Given the description of an element on the screen output the (x, y) to click on. 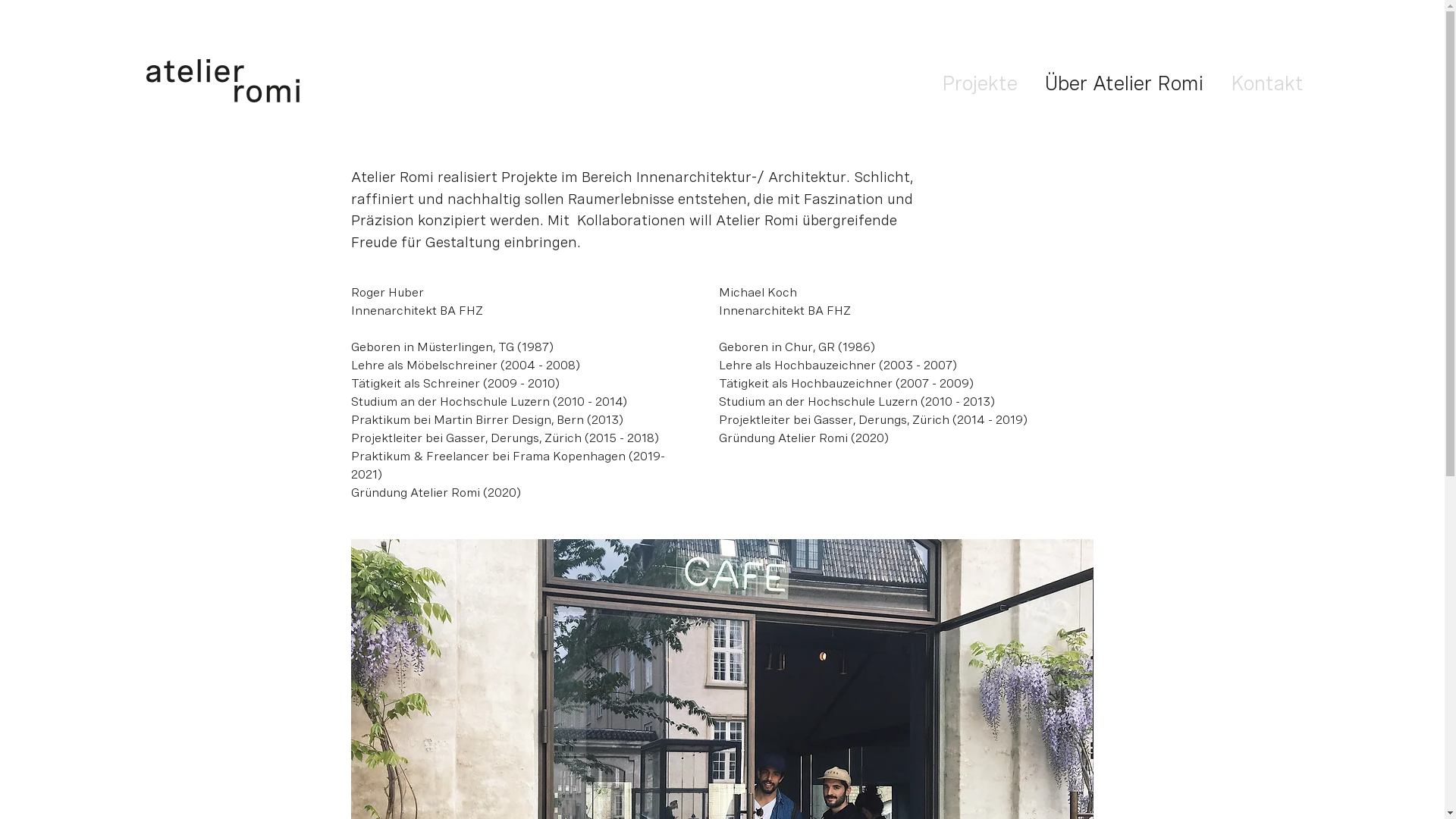
Kontakt Element type: text (1265, 83)
Projekte Element type: text (979, 83)
